Given the description of an element on the screen output the (x, y) to click on. 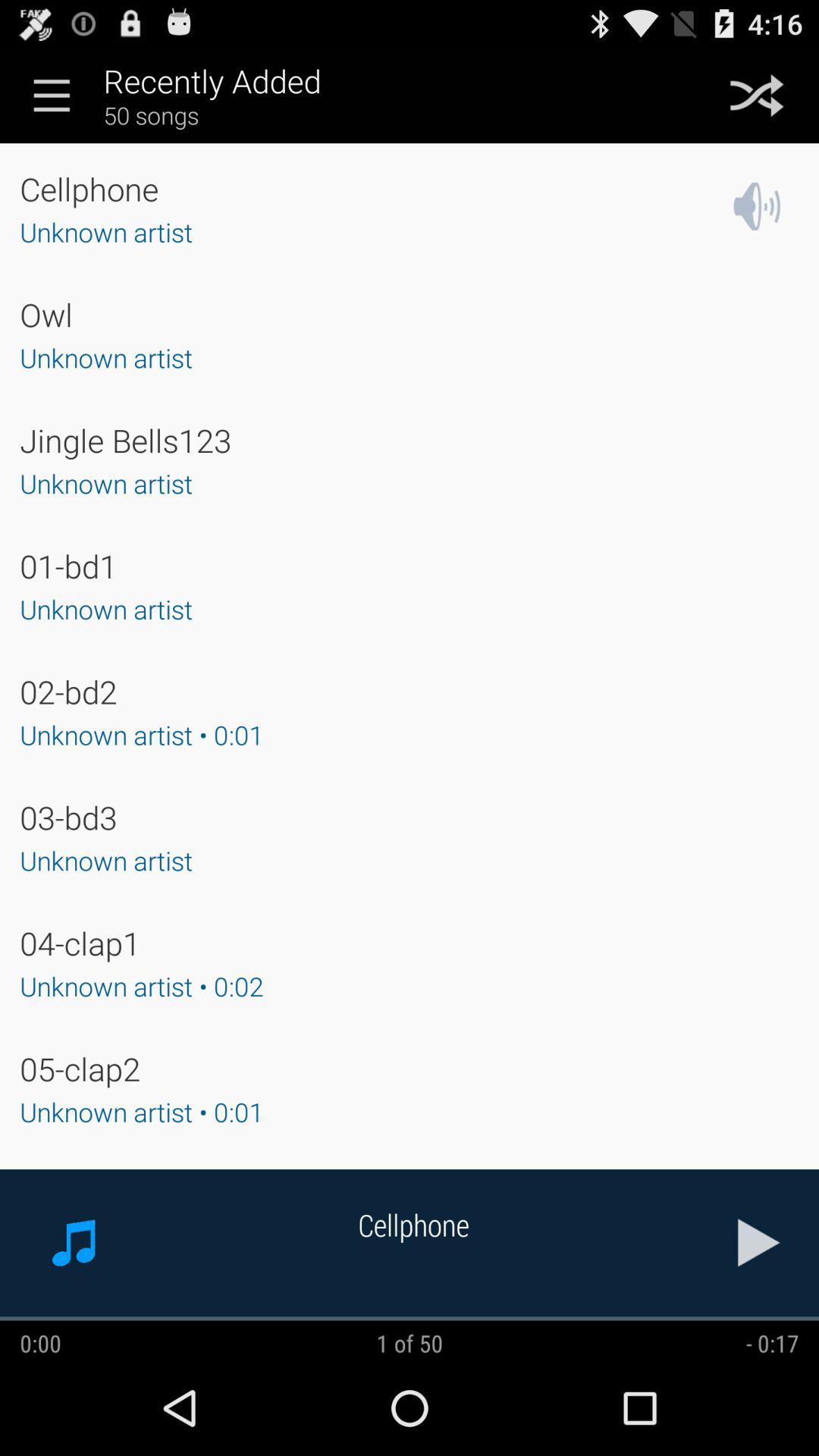
play the song (759, 1242)
